Given the description of an element on the screen output the (x, y) to click on. 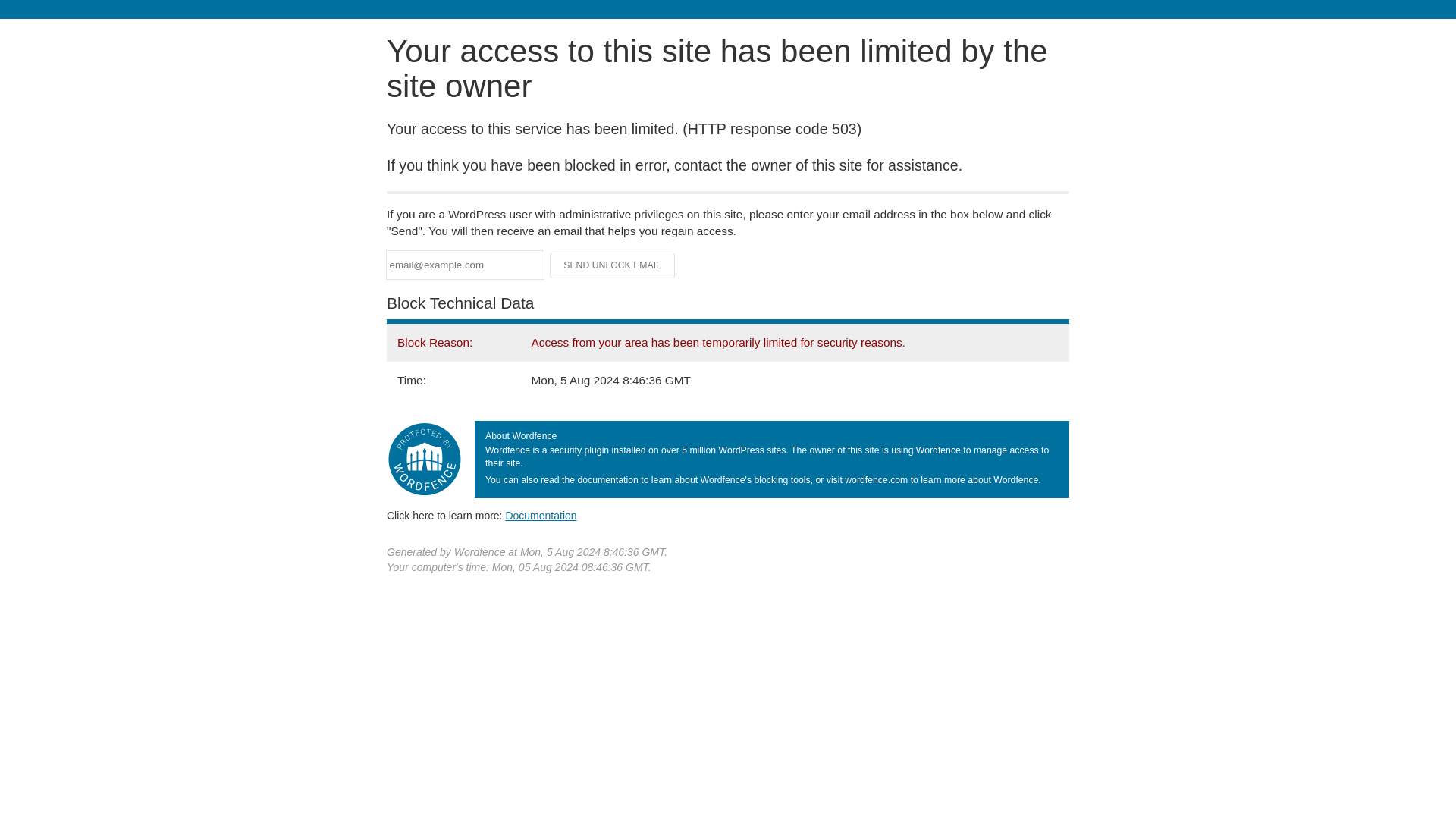
Send Unlock Email (612, 265)
Send Unlock Email (612, 265)
Documentation (540, 515)
